Given the description of an element on the screen output the (x, y) to click on. 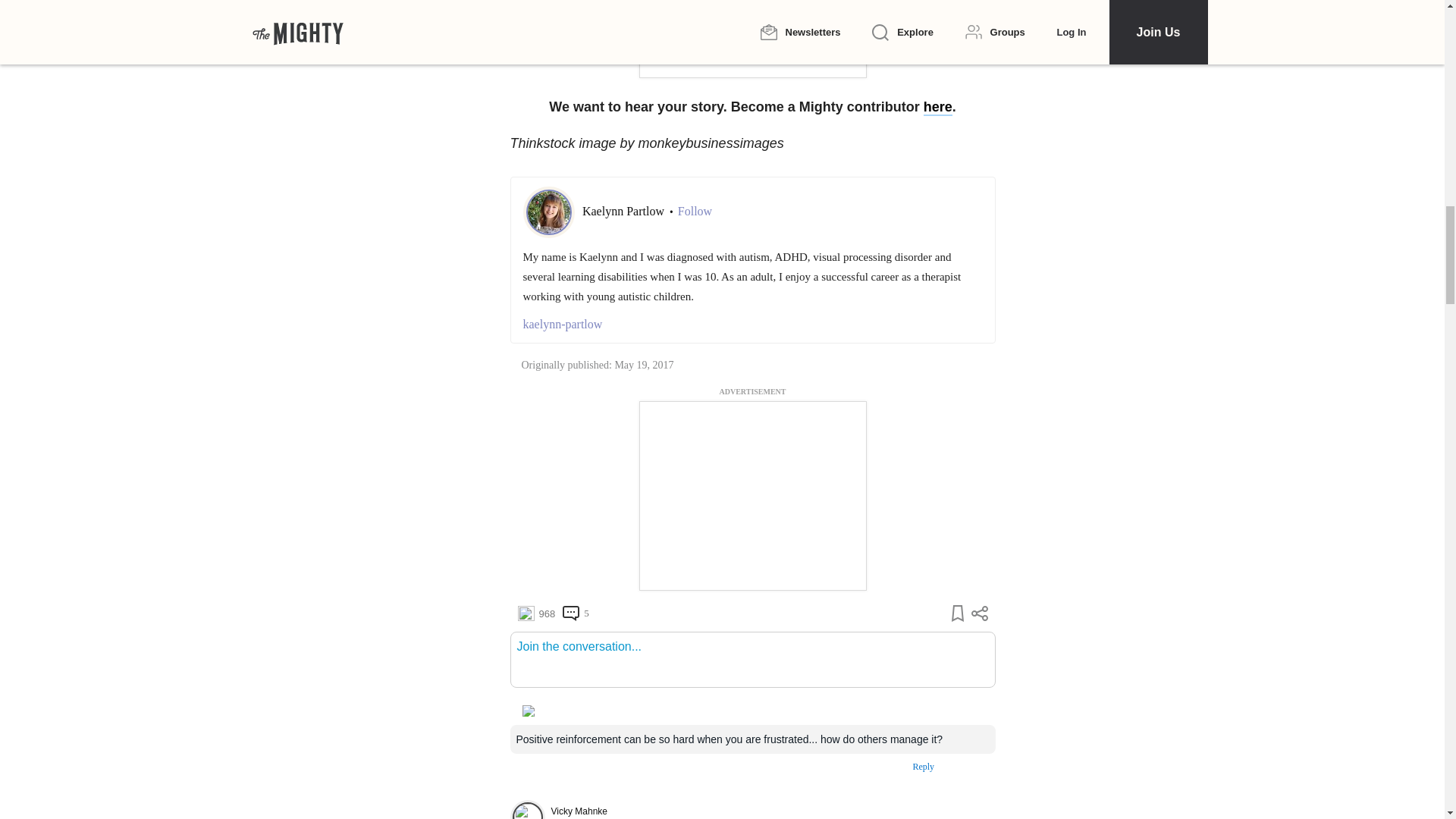
Follow (694, 211)
Kaelynn Partlow (624, 210)
here (937, 107)
kaelynn-partlow (752, 324)
968 (535, 613)
View their profile (526, 809)
View their profile (754, 811)
View their profile (578, 818)
